Given the description of an element on the screen output the (x, y) to click on. 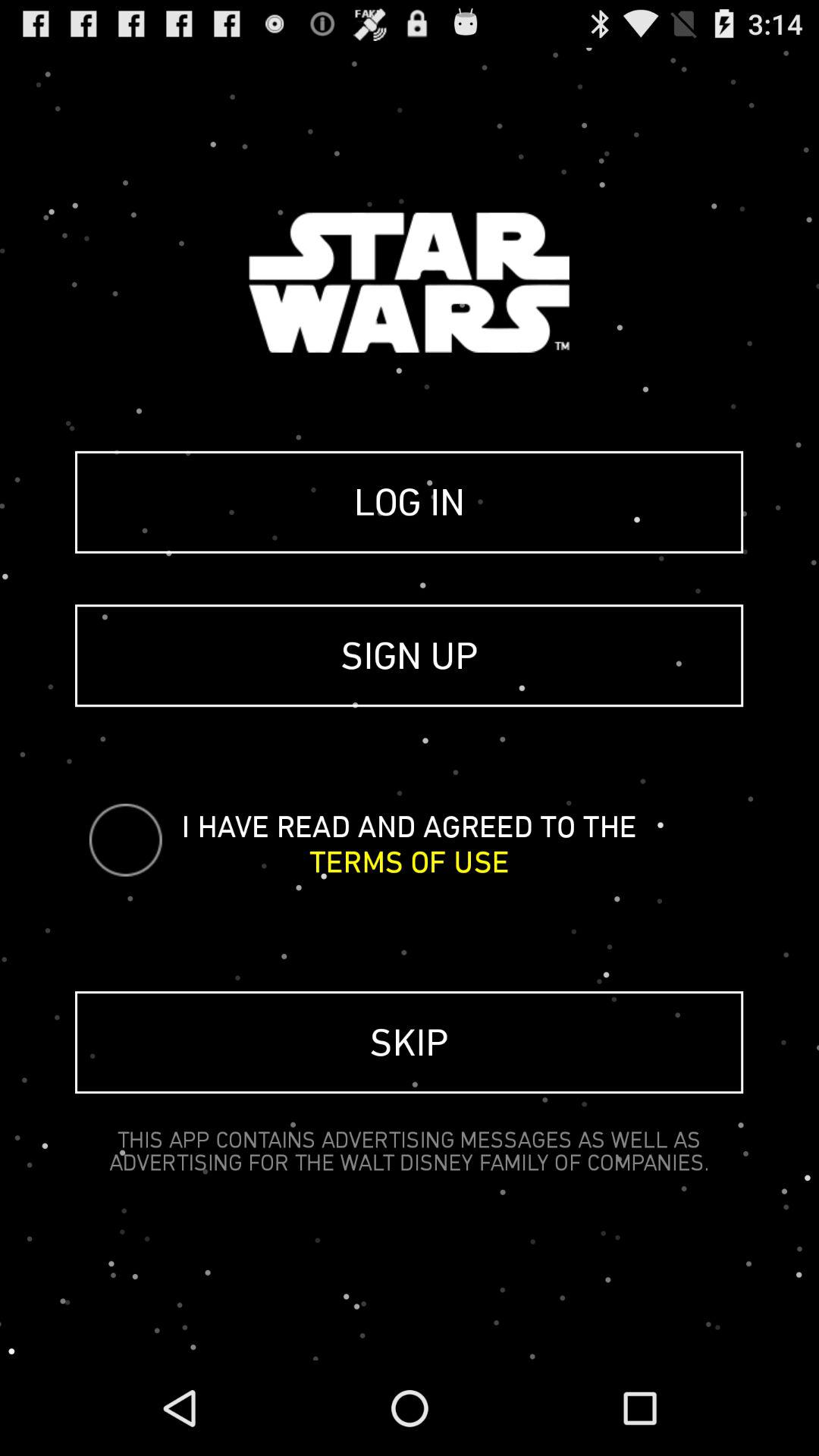
flip until the terms of use item (409, 861)
